Given the description of an element on the screen output the (x, y) to click on. 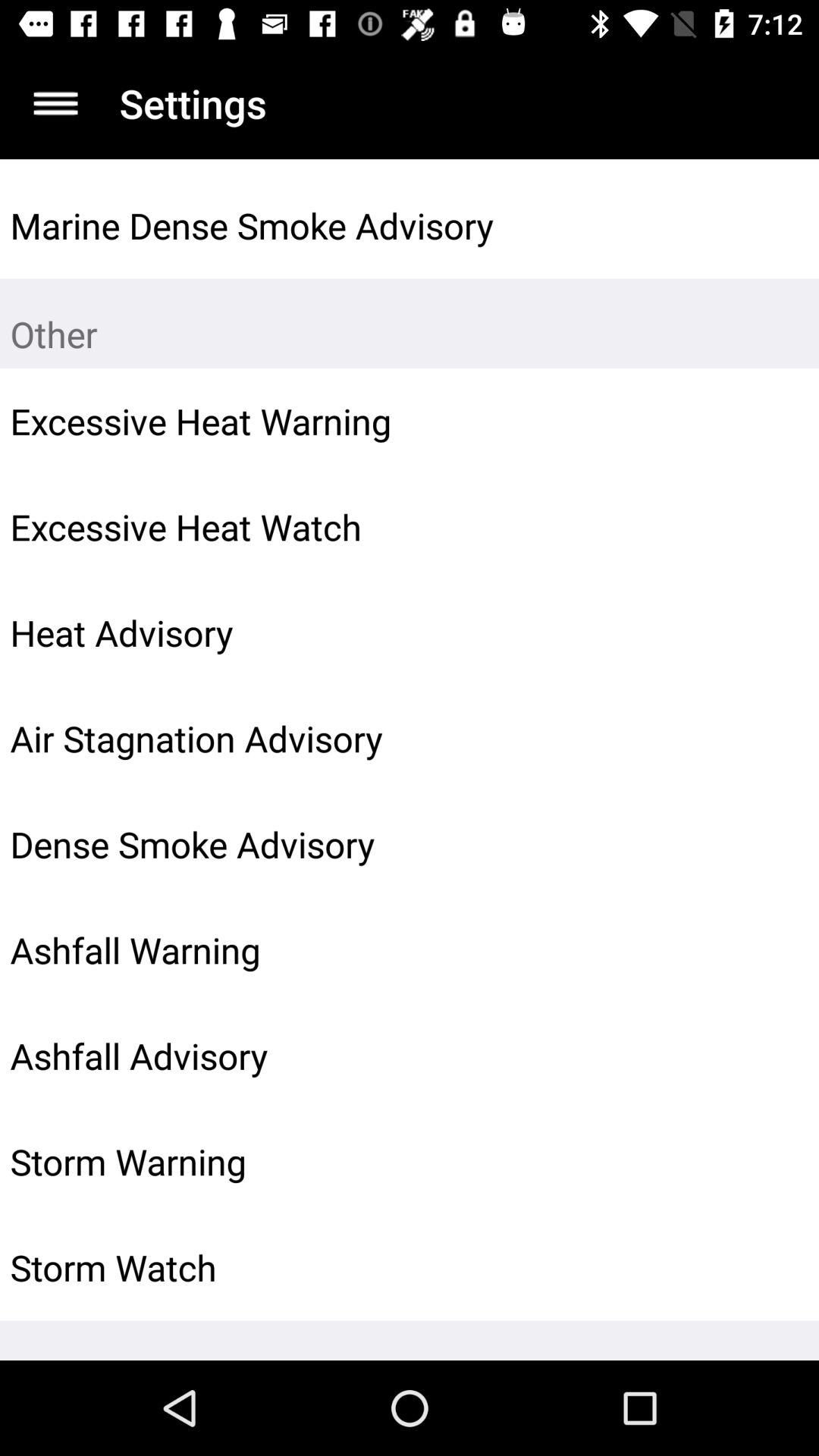
tap the icon next to air stagnation advisory icon (771, 738)
